Given the description of an element on the screen output the (x, y) to click on. 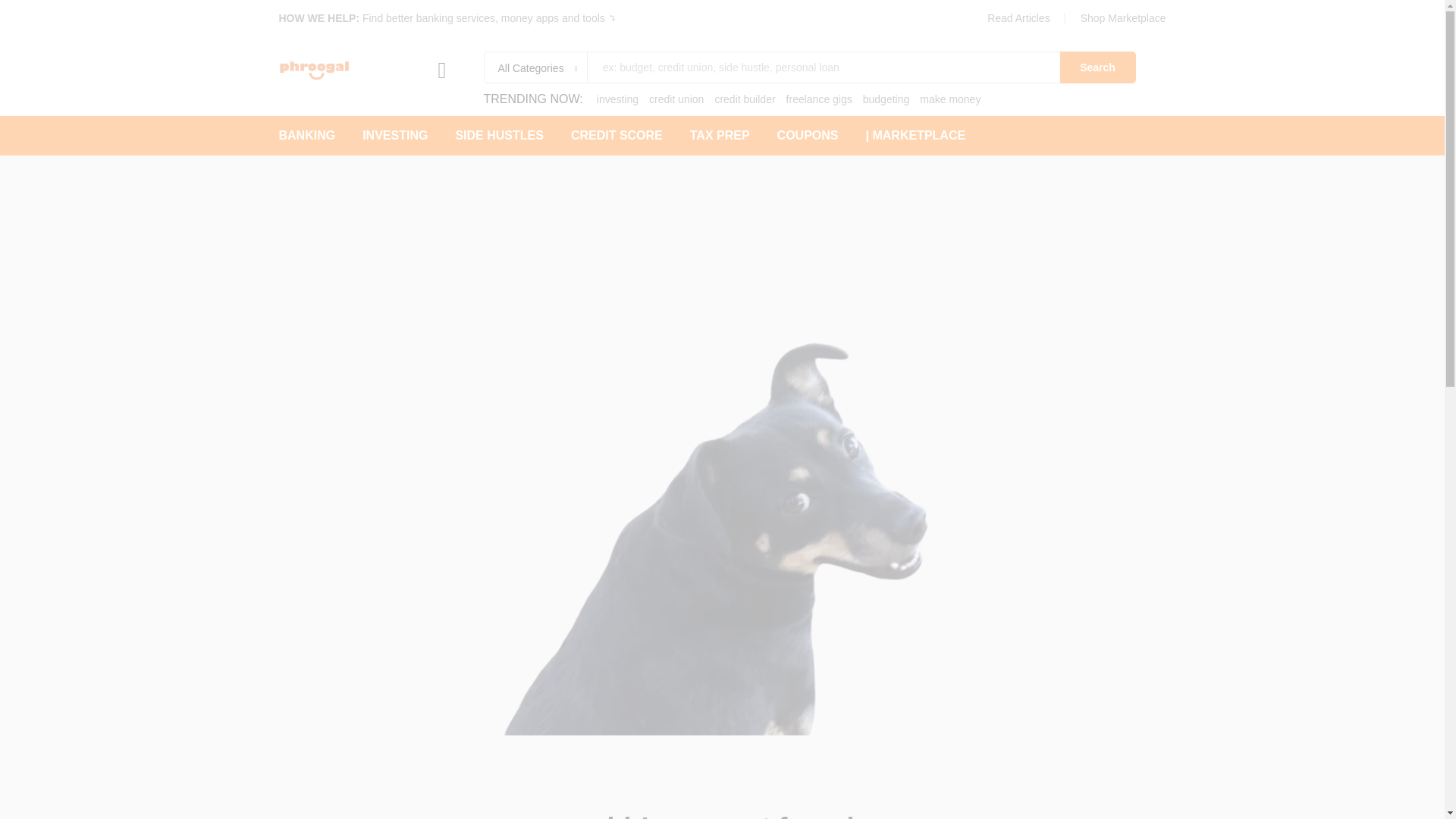
budgeting (886, 99)
make money (949, 99)
freelance gigs (818, 99)
COUPONS (807, 135)
SIDE HUSTLES (498, 135)
Read Articles (1018, 18)
investing (617, 99)
INVESTING (395, 135)
TAX PREP (719, 135)
credit builder (744, 99)
BANKING (307, 135)
CREDIT SCORE (616, 135)
Search (1097, 67)
credit union (676, 99)
Shop Marketplace (1123, 18)
